Given the description of an element on the screen output the (x, y) to click on. 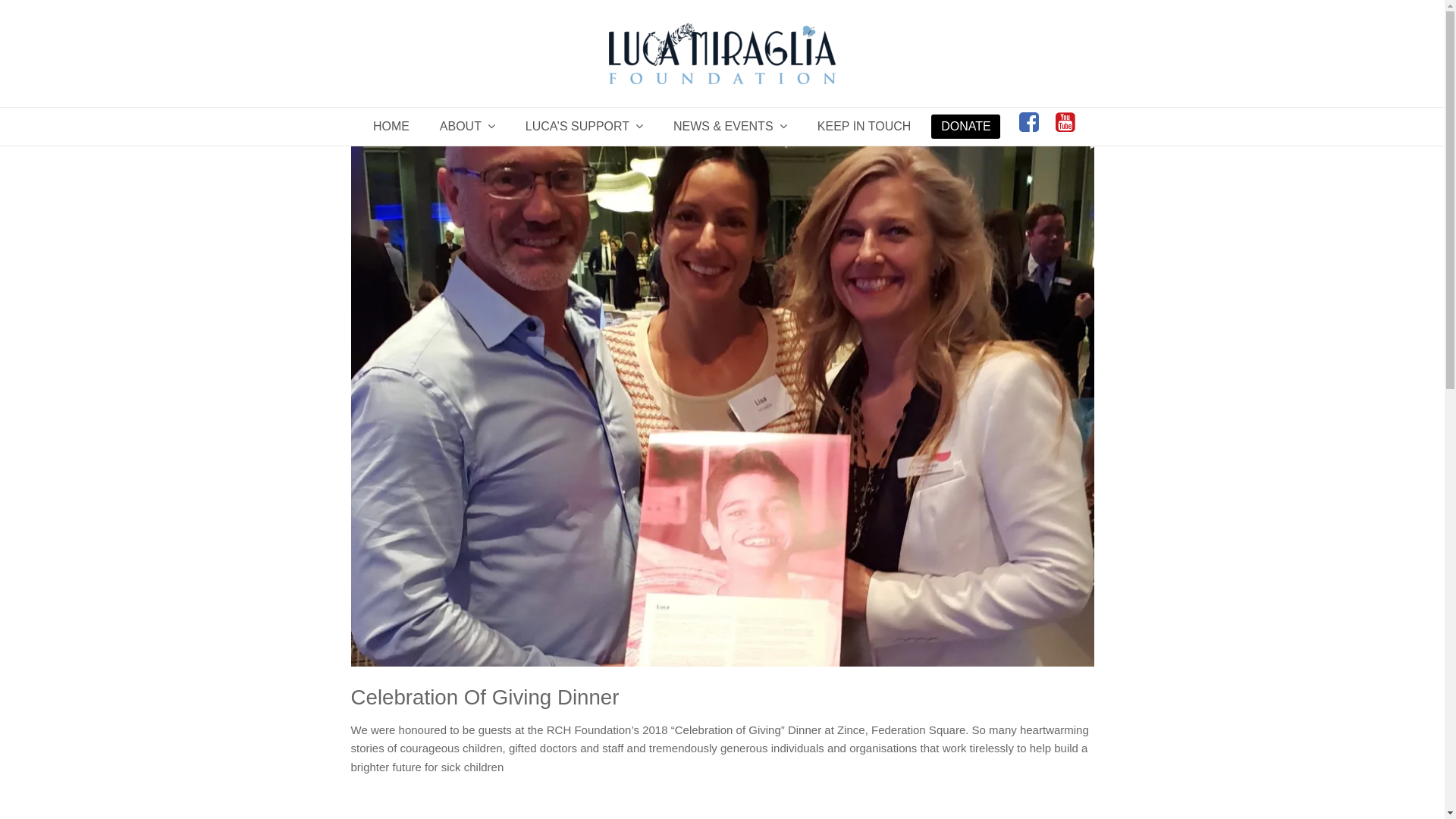
NEWS & EVENTS Element type: text (729, 126)
Luca Miraglia Foundation Element type: hover (721, 53)
HOME Element type: text (391, 126)
ABOUT Element type: text (467, 126)
DONATE Element type: text (965, 126)
KEEP IN TOUCH Element type: text (863, 126)
